Given the description of an element on the screen output the (x, y) to click on. 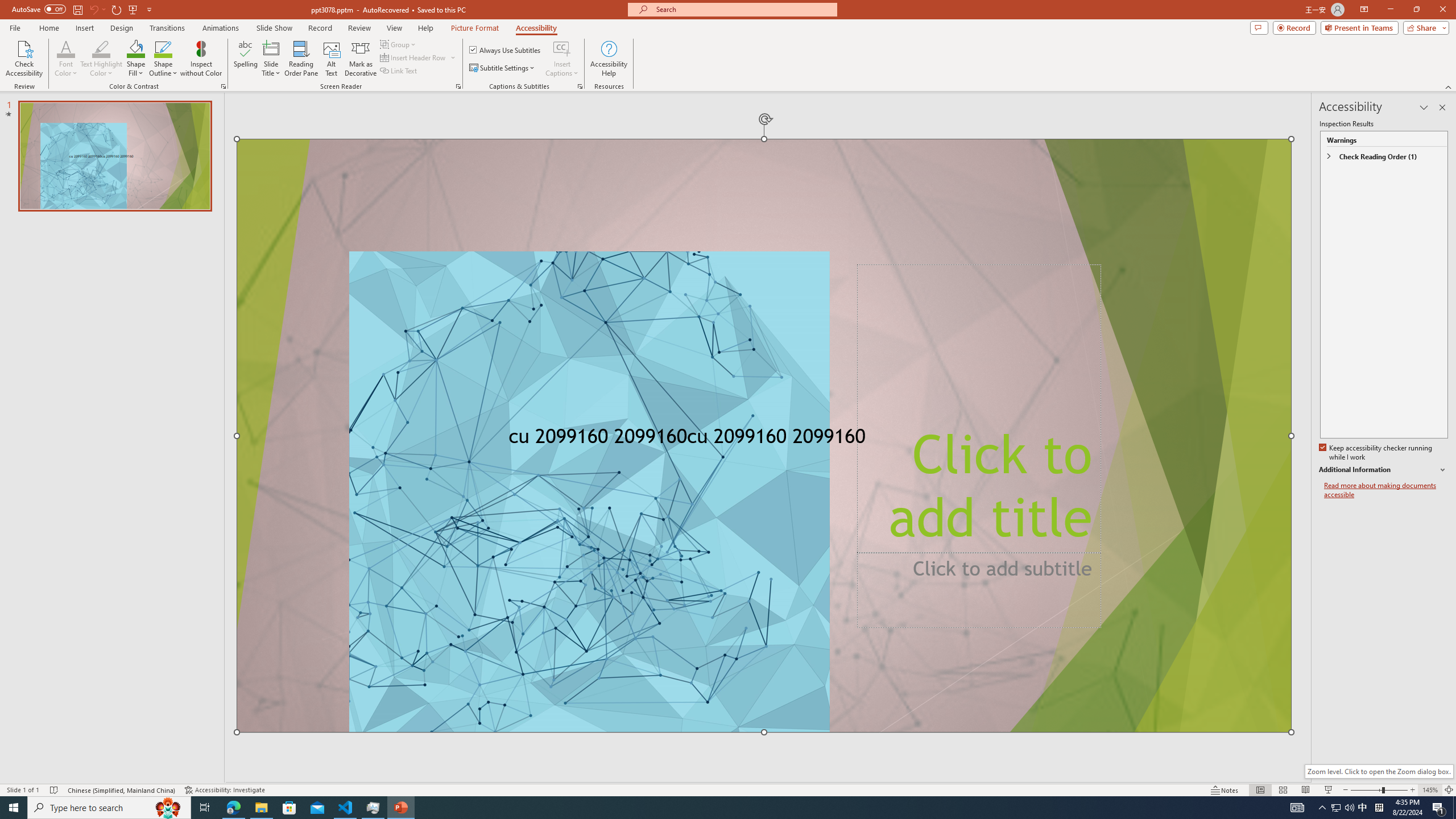
Keep accessibility checker running while I work (1376, 452)
Read more about making documents accessible (1385, 489)
Slide Title (271, 48)
Insert Header Row (413, 56)
